Given the description of an element on the screen output the (x, y) to click on. 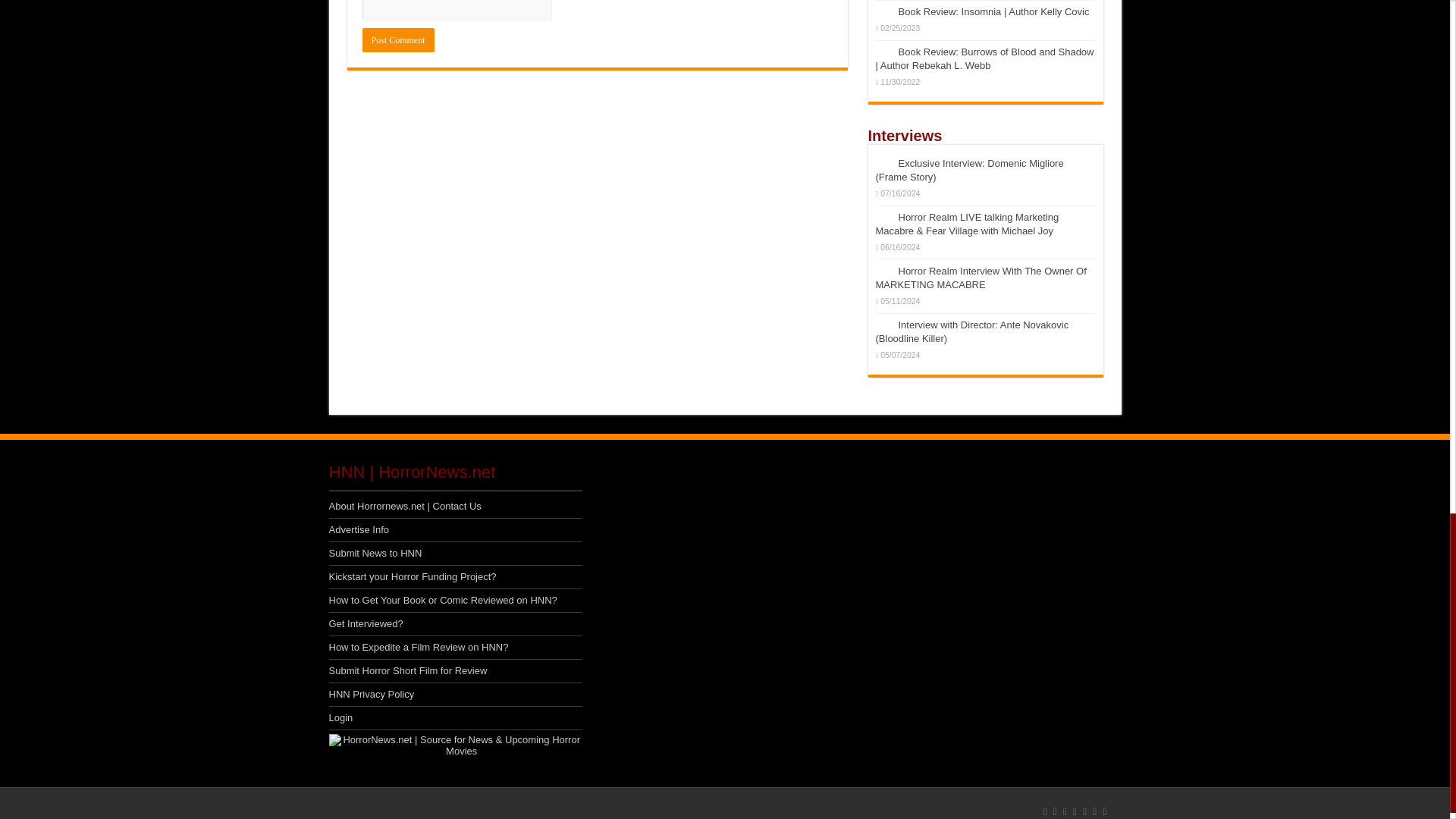
Post Comment (397, 39)
